Given the description of an element on the screen output the (x, y) to click on. 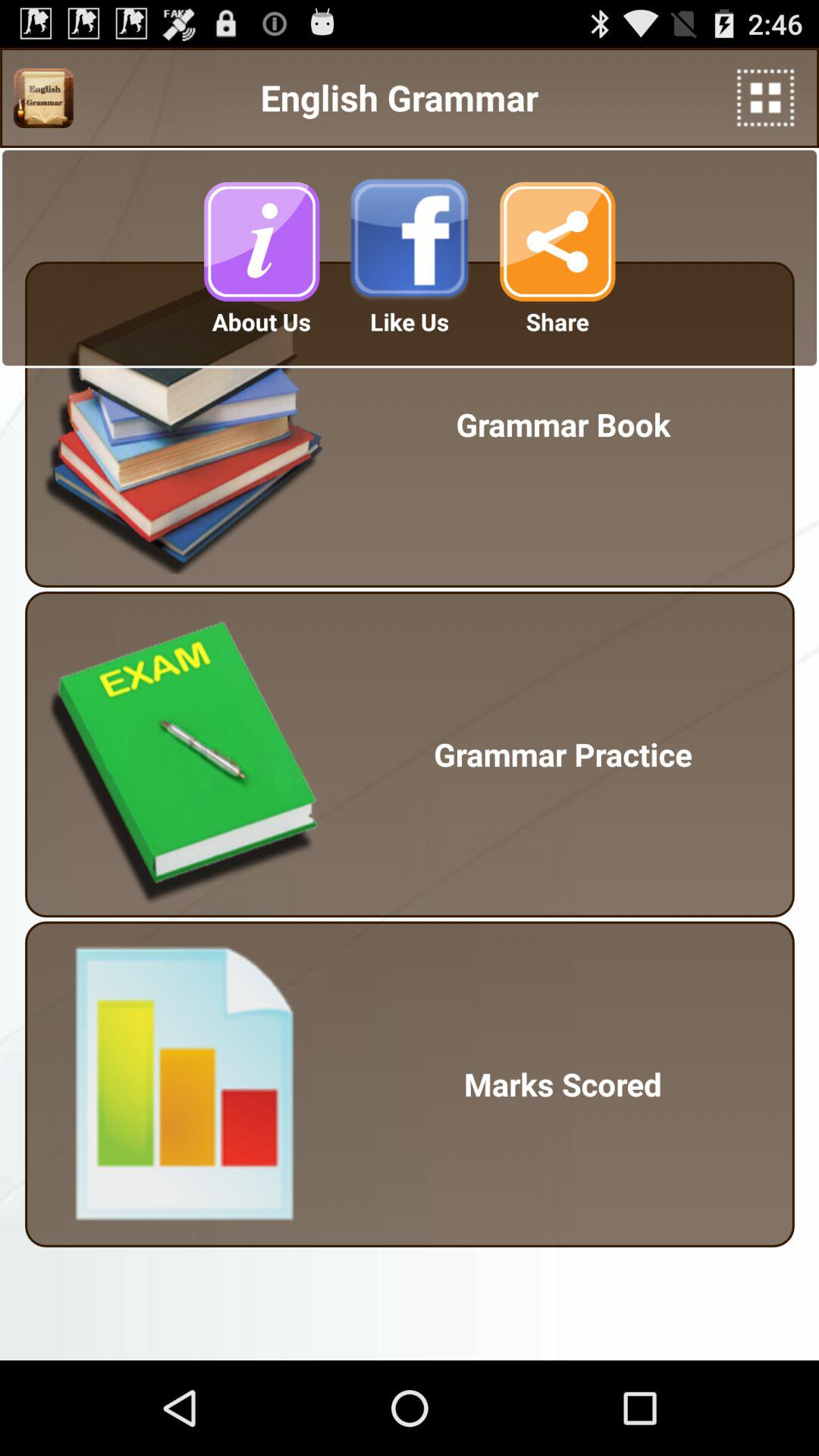
view image (43, 97)
